Given the description of an element on the screen output the (x, y) to click on. 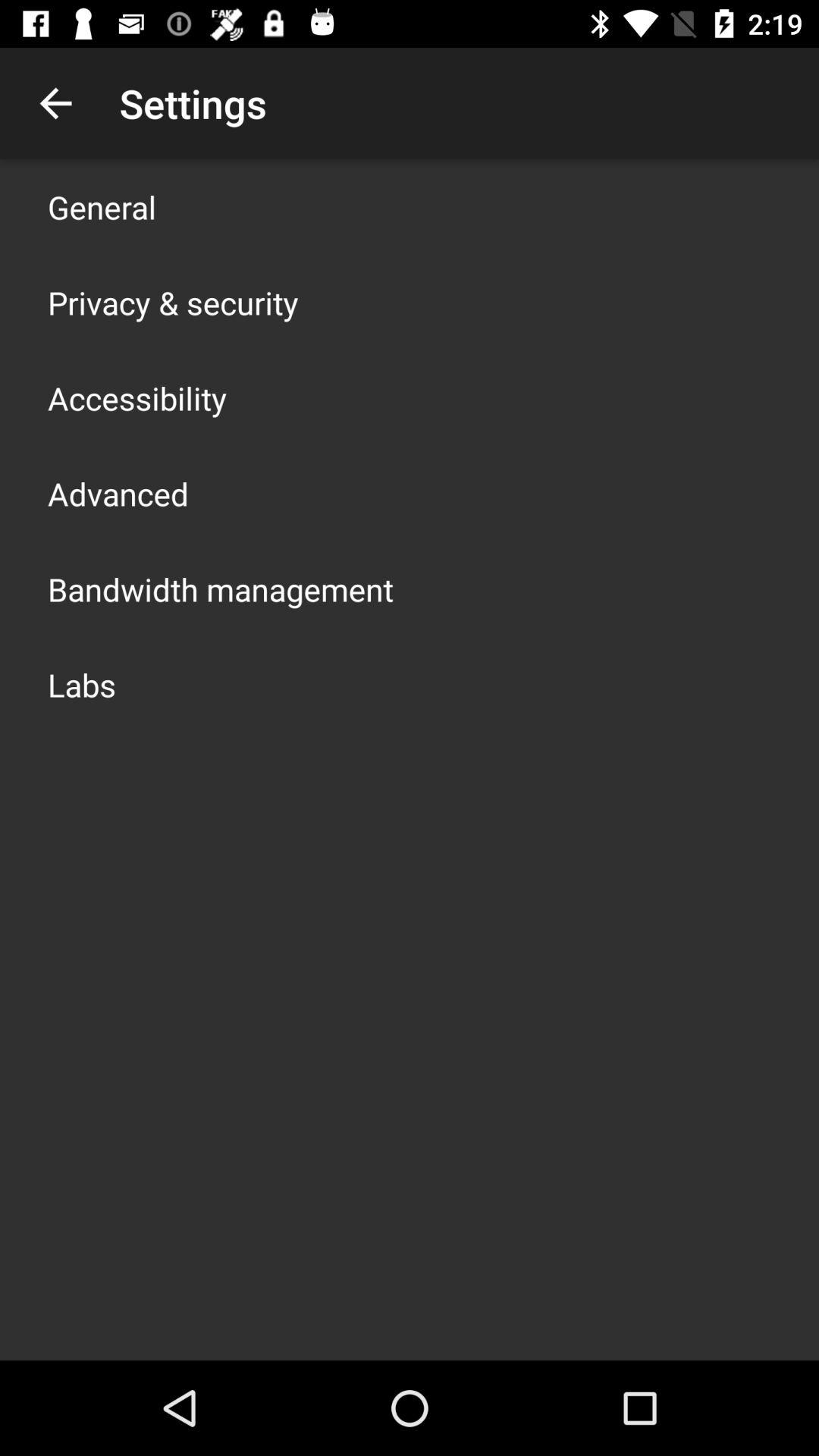
turn on the item above the privacy & security item (101, 206)
